Given the description of an element on the screen output the (x, y) to click on. 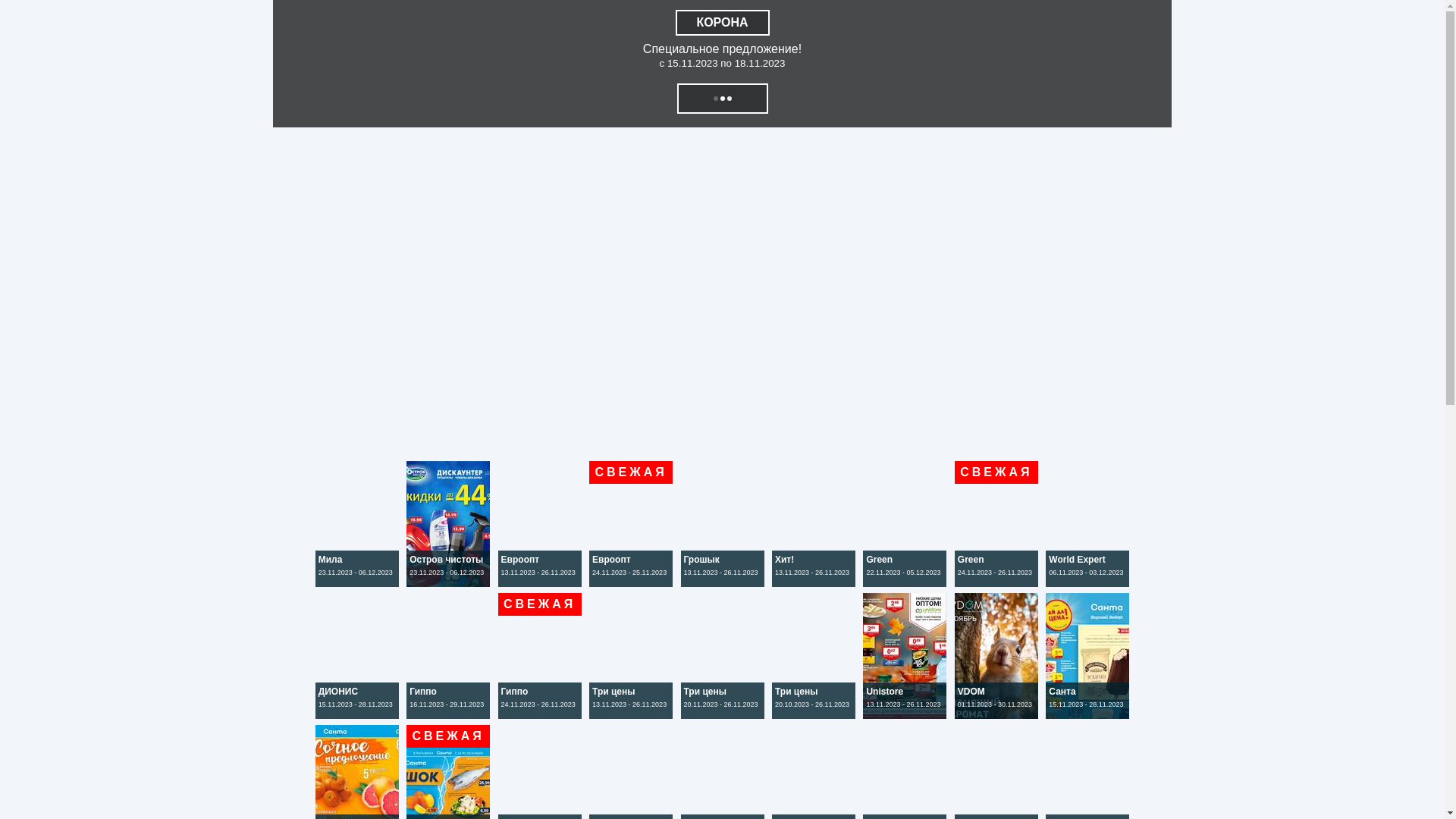
World Expert
06.11.2023 - 03.12.2023 Element type: text (1087, 582)
Green
22.11.2023 - 05.12.2023 Element type: text (905, 582)
Unistore
13.11.2023 - 26.11.2023 Element type: text (905, 714)
VDOM
01.11.2023 - 30.11.2023 Element type: text (997, 714)
